Given the description of an element on the screen output the (x, y) to click on. 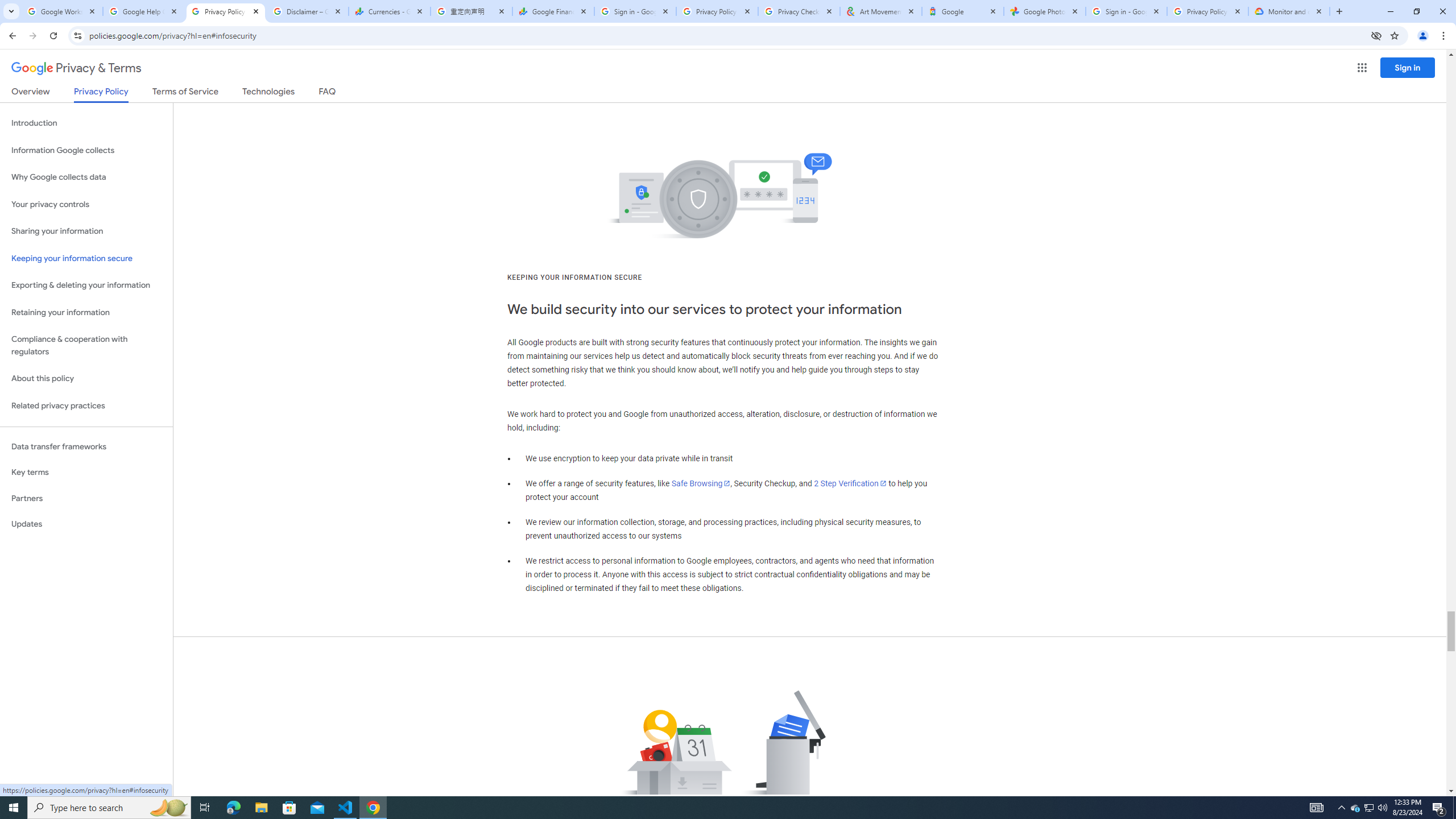
Sign in - Google Accounts (635, 11)
Related privacy practices (86, 405)
2 Step Verification (849, 483)
Google Workspace Admin Community (61, 11)
FAQ (327, 93)
Information Google collects (86, 150)
